Given the description of an element on the screen output the (x, y) to click on. 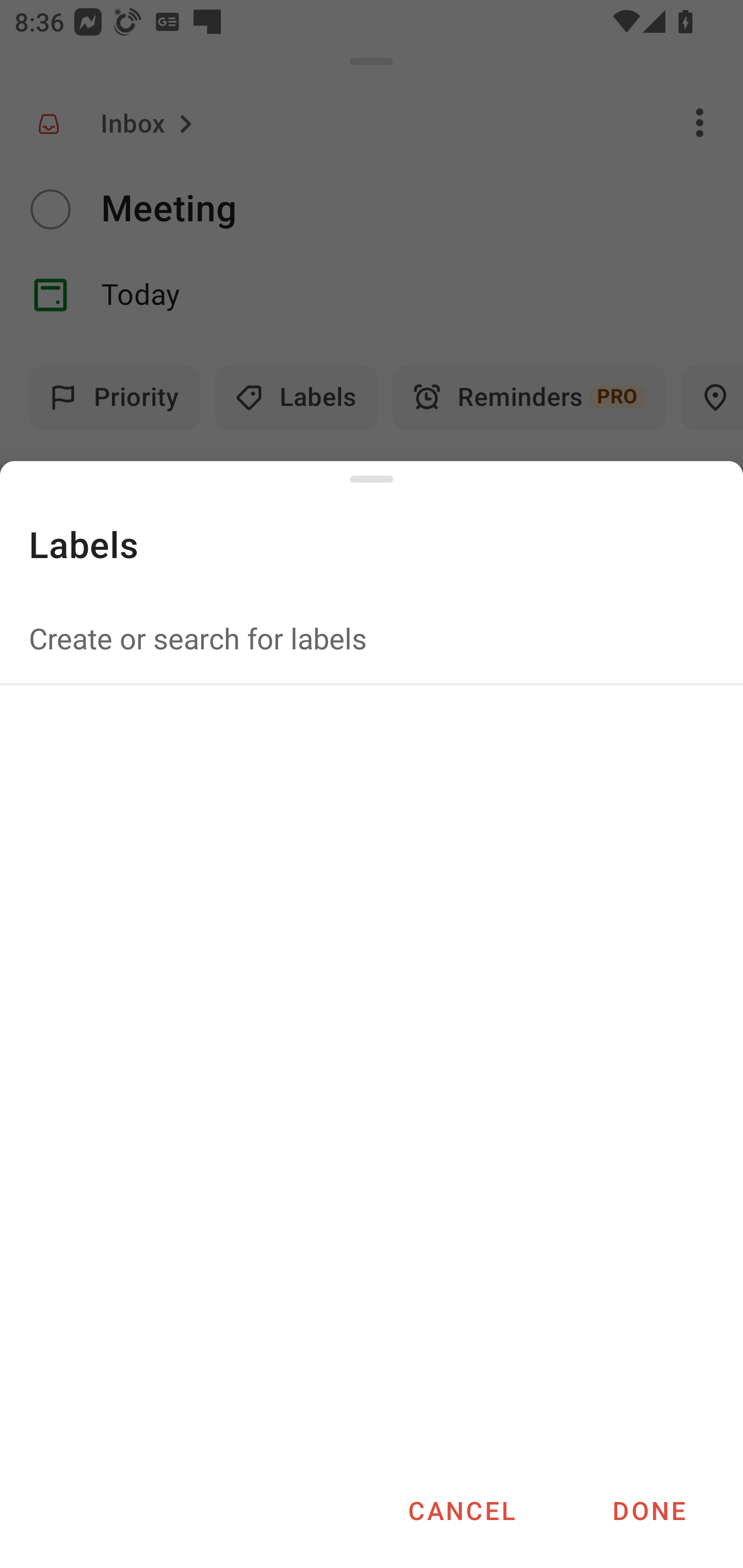
Create or search for labels (371, 638)
CANCEL (460, 1510)
DONE (648, 1510)
